Given the description of an element on the screen output the (x, y) to click on. 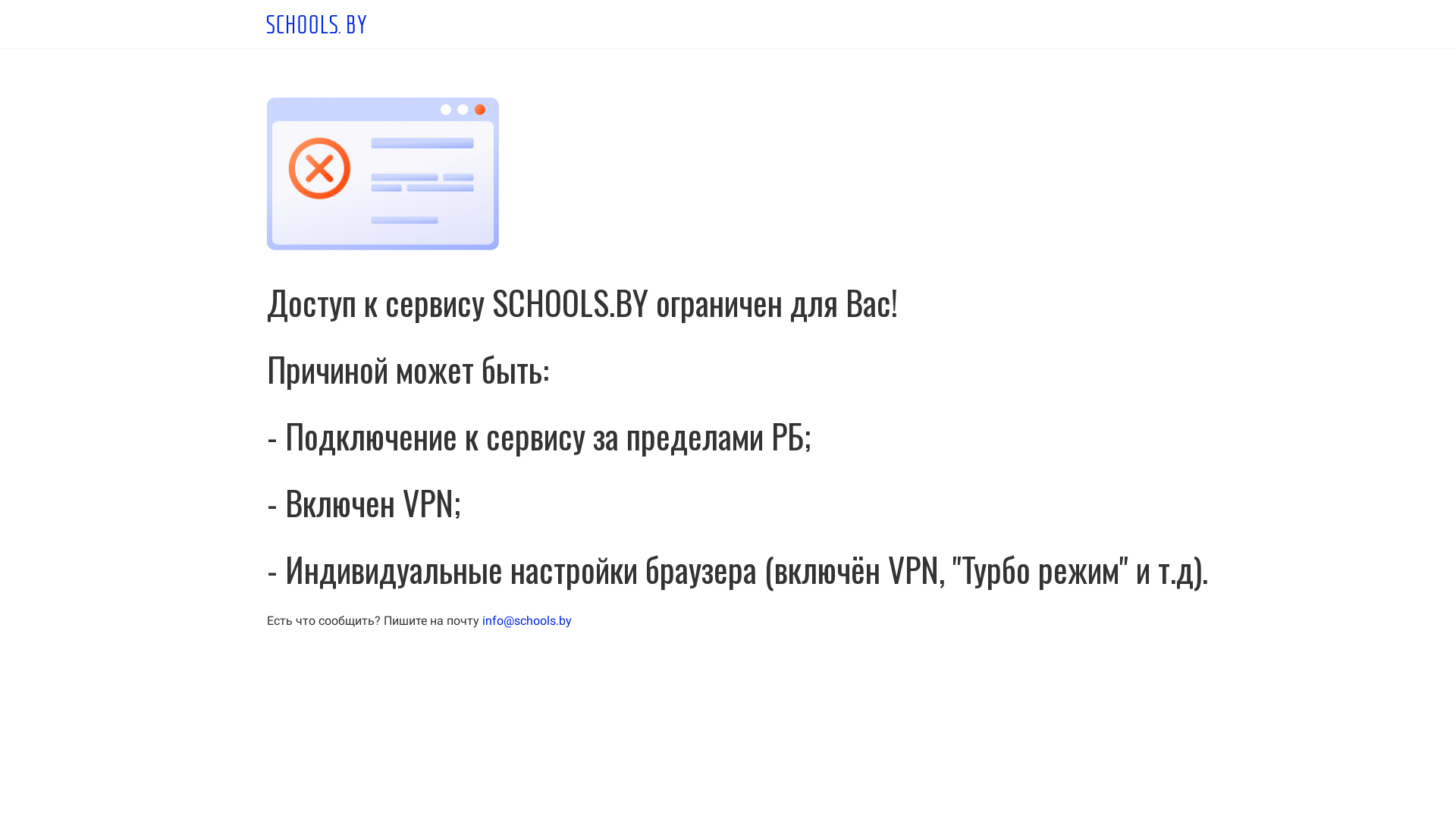
info@schools.by Element type: text (526, 620)
